Given the description of an element on the screen output the (x, y) to click on. 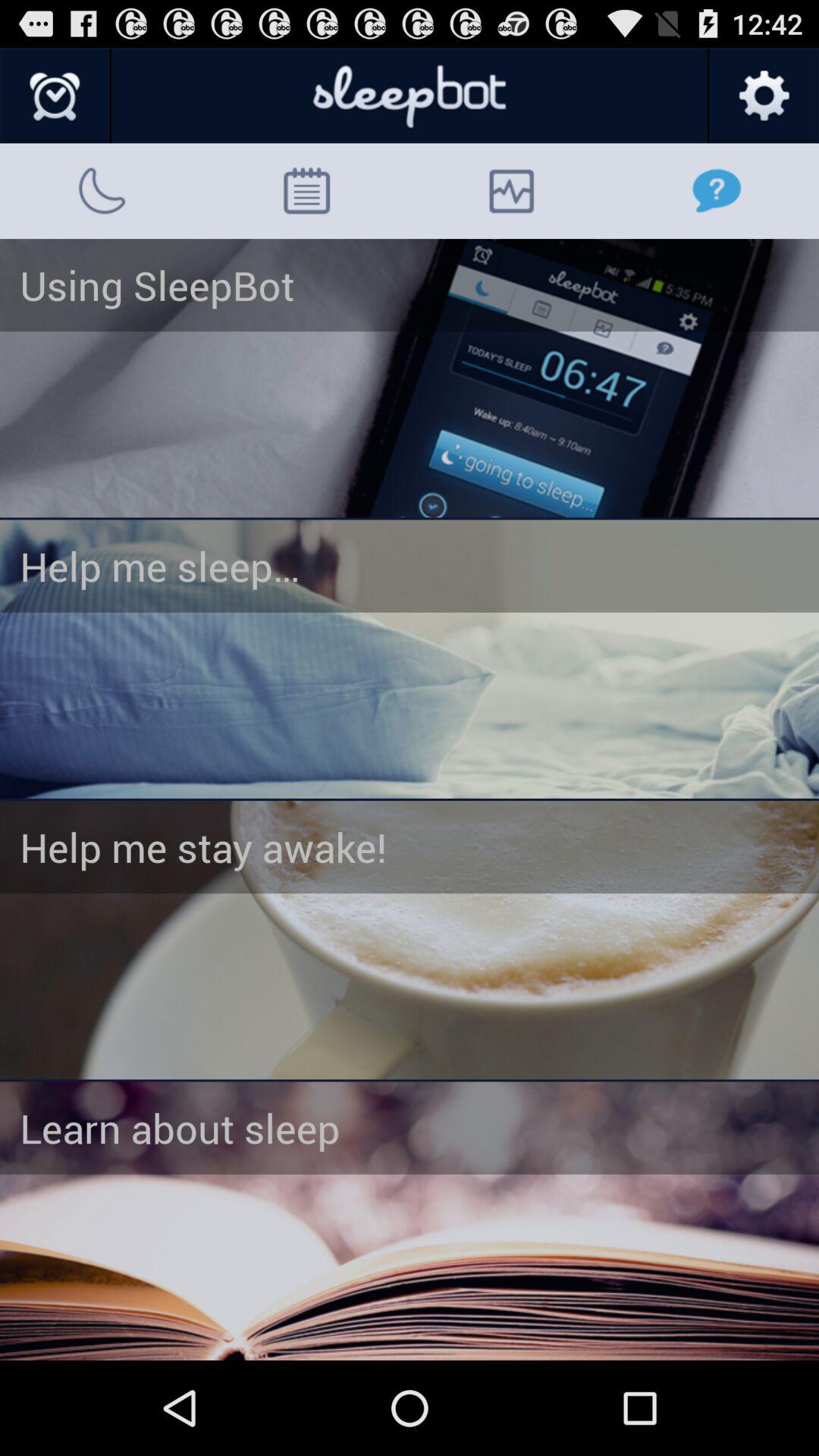
using sleepbot menu (409, 377)
